Given the description of an element on the screen output the (x, y) to click on. 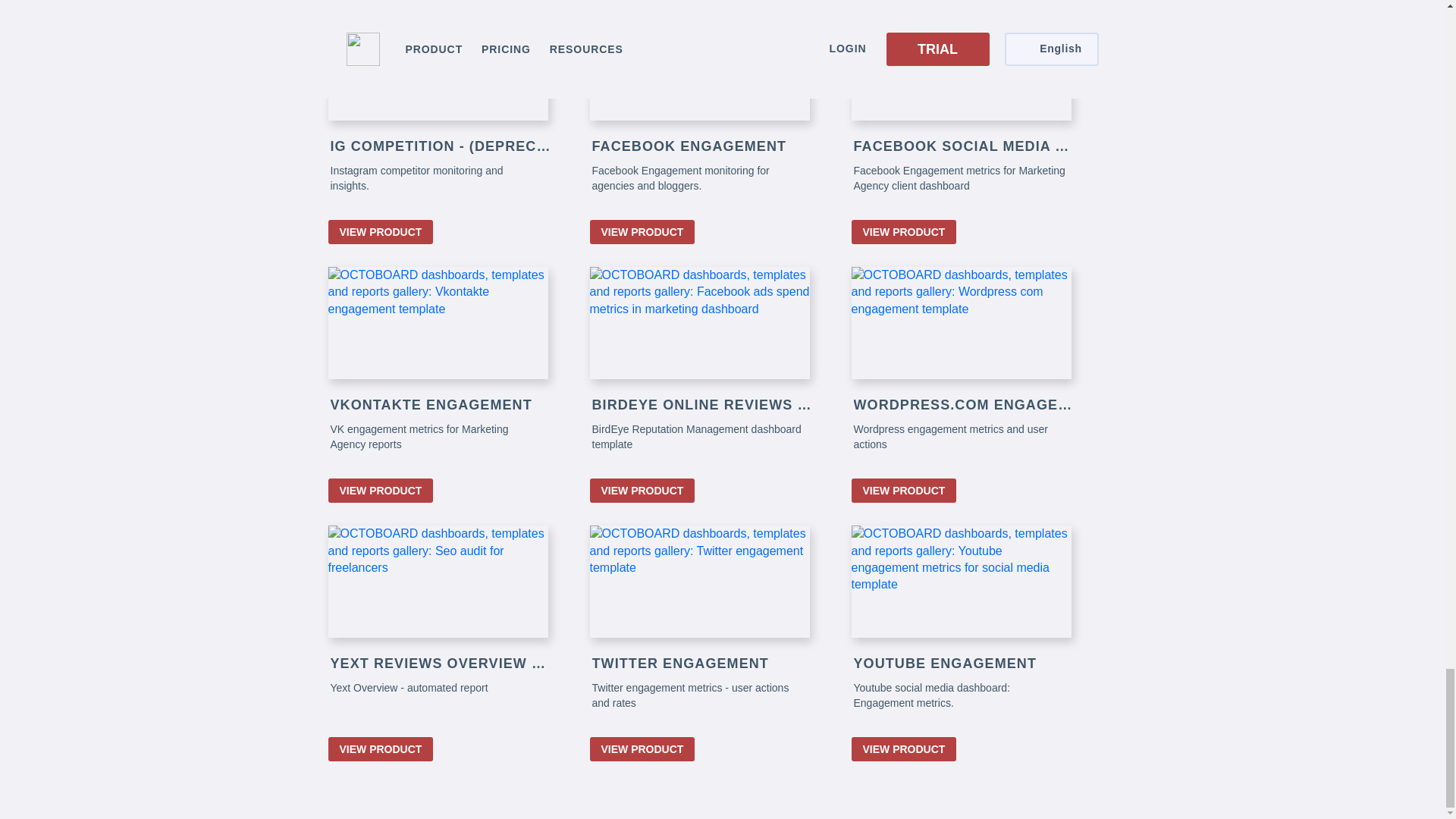
VIEW PRODUCT (903, 232)
VIEW PRODUCT (642, 232)
VIEW PRODUCT (642, 490)
VIEW PRODUCT (379, 232)
VIEW PRODUCT (379, 490)
VIEW PRODUCT (903, 490)
